Given the description of an element on the screen output the (x, y) to click on. 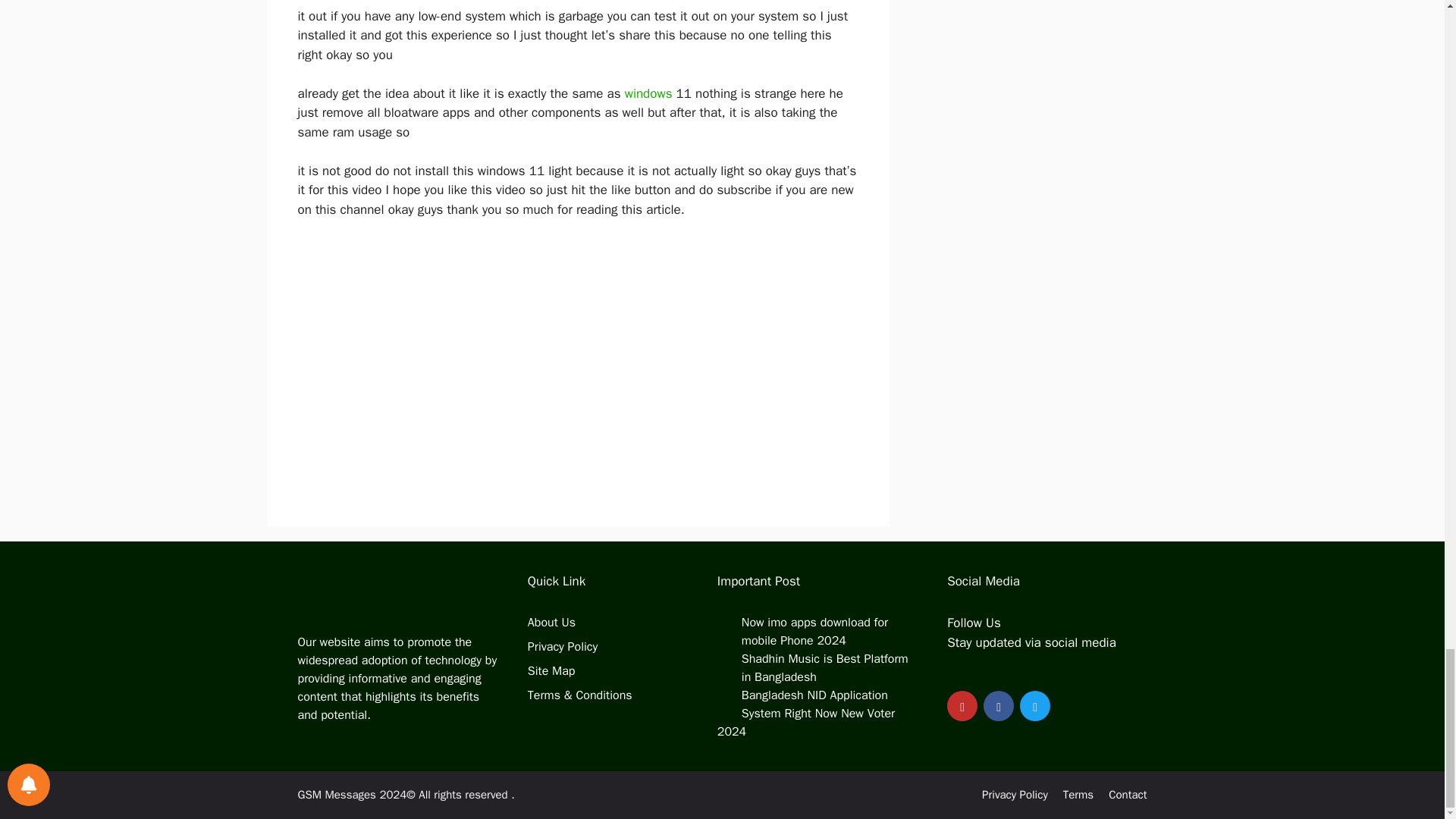
Now imo apps download for mobile Phone 2024 (814, 631)
Privacy Policy (561, 646)
About Us (551, 622)
Site Map (551, 670)
Shadhin Music is Best Platform in Bangladesh (824, 667)
windows (650, 93)
Bangladesh NID Application System Right Now New Voter 2024 (806, 713)
